Given the description of an element on the screen output the (x, y) to click on. 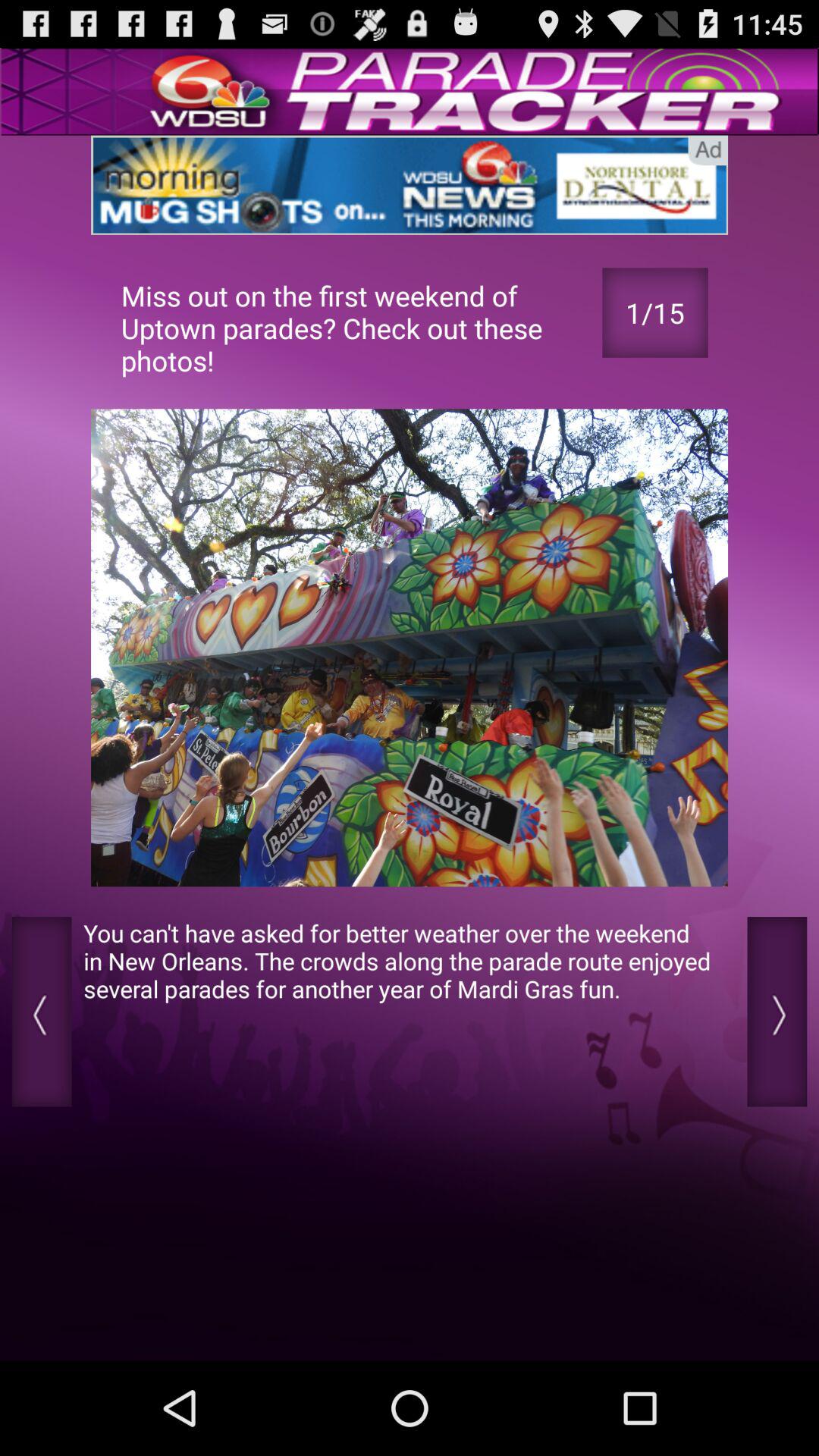
go to next (777, 1011)
